Given the description of an element on the screen output the (x, y) to click on. 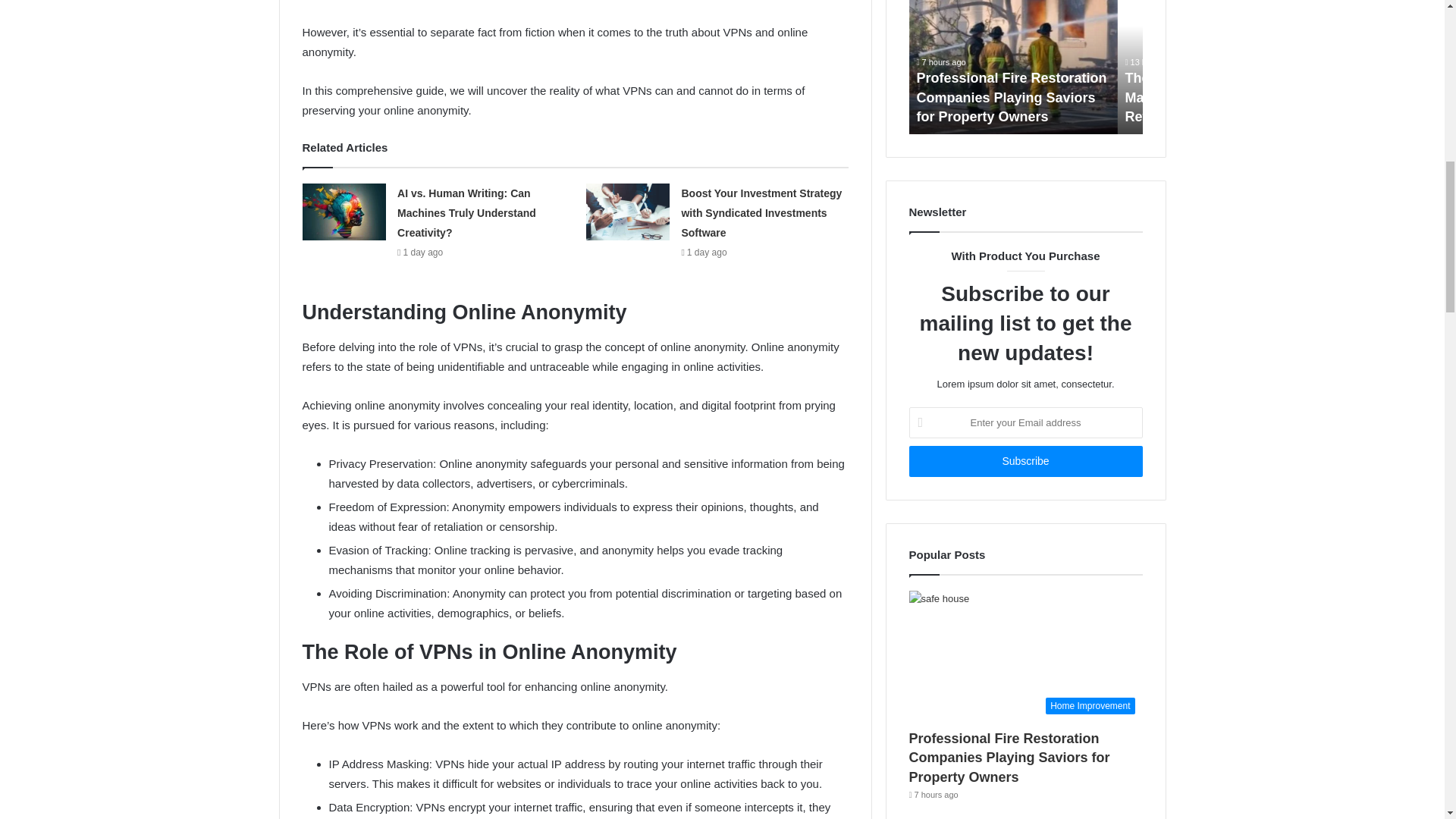
Subscribe (1025, 460)
